Given the description of an element on the screen output the (x, y) to click on. 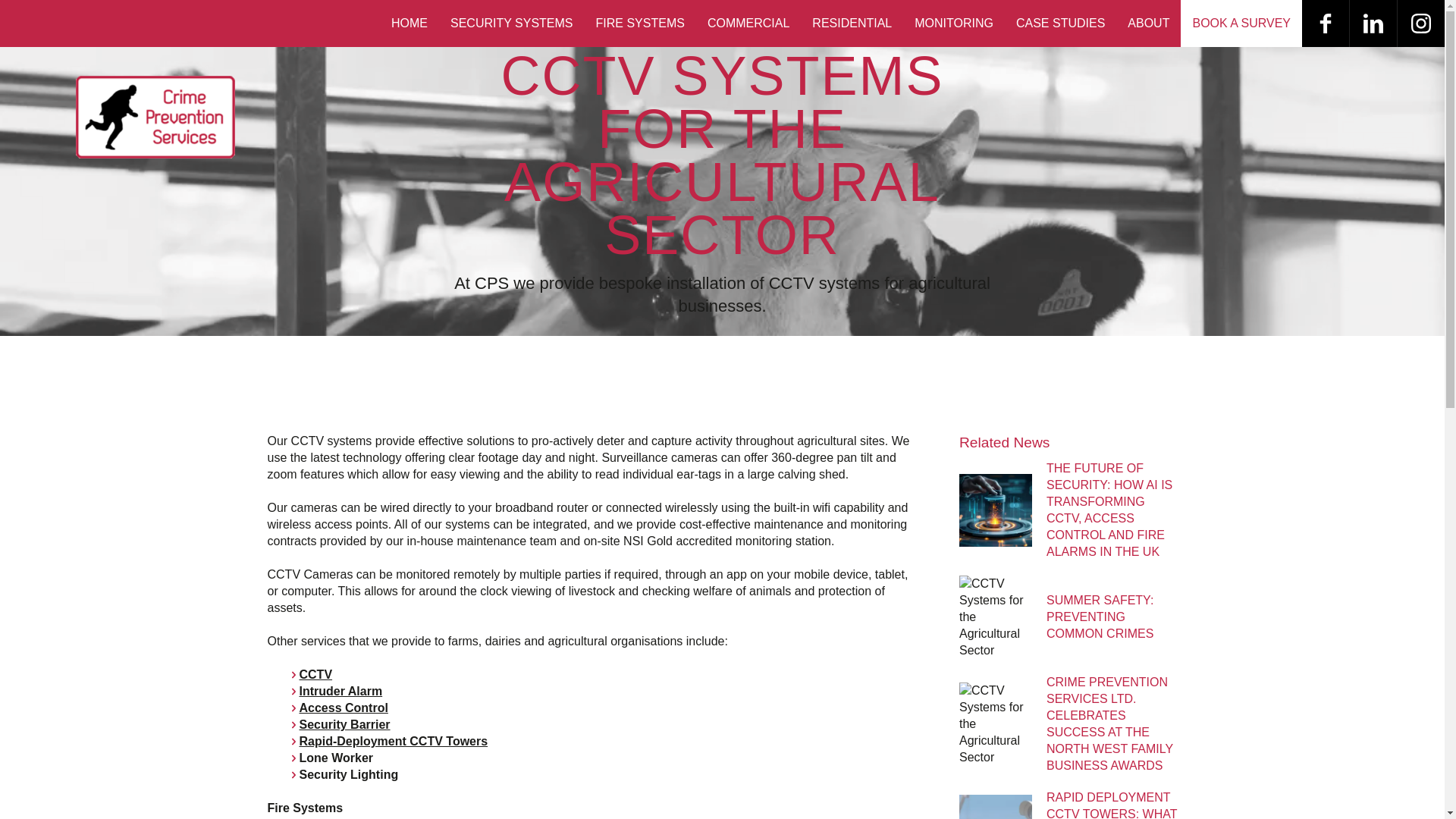
SECURITY SYSTEMS (512, 23)
Security Barrier (344, 724)
COMMERCIAL (747, 23)
FIRE SYSTEMS (640, 23)
Intruder Alarm (339, 690)
CCTV (314, 674)
MONITORING (953, 23)
Access Control (342, 707)
SUMMER SAFETY: PREVENTING COMMON CRIMES (1099, 616)
